Given the description of an element on the screen output the (x, y) to click on. 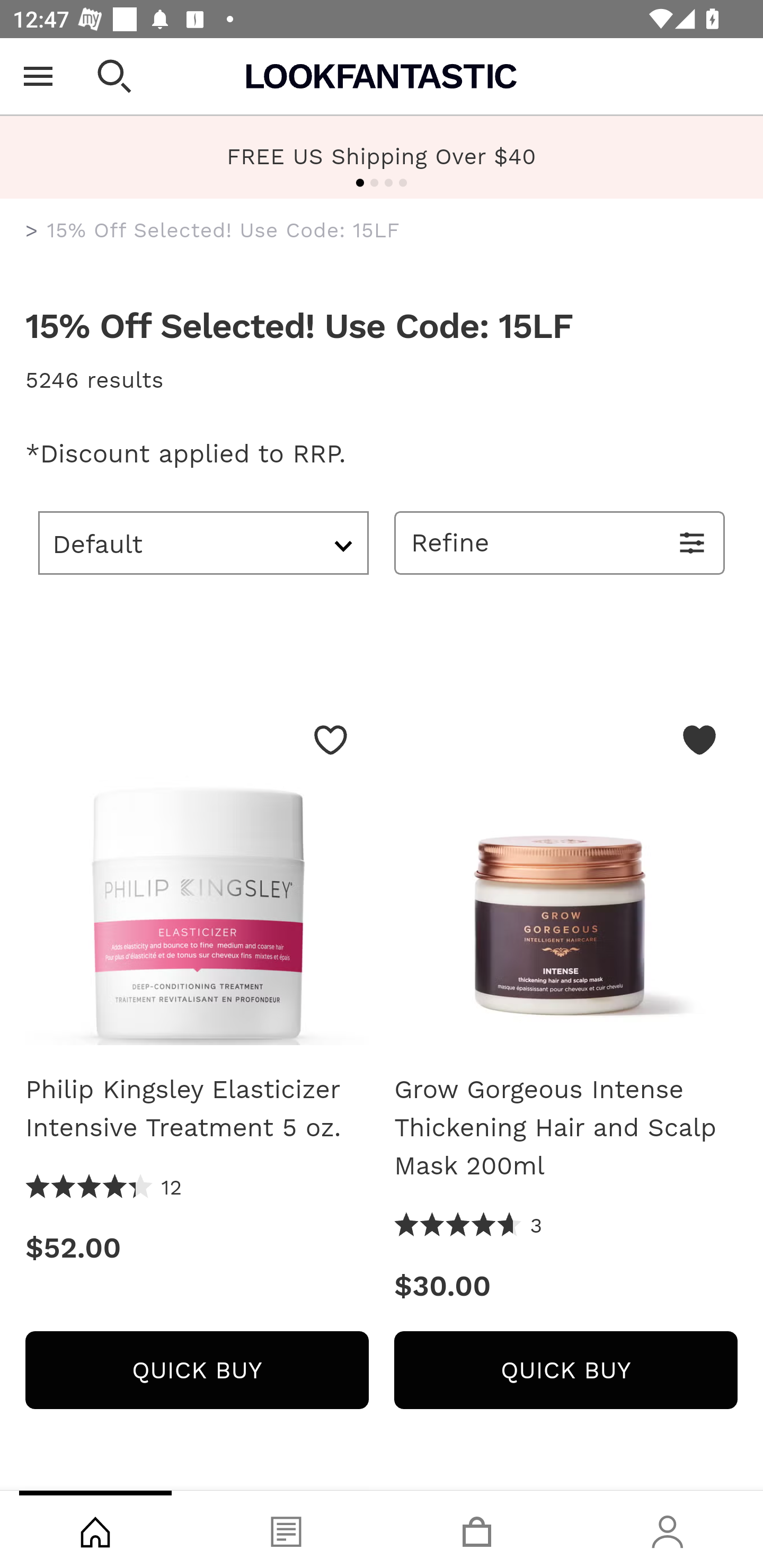
Open Menu (38, 75)
Open search (114, 75)
Lookfantastic USA (381, 75)
FREE US Shipping Over $40 (381, 157)
FREE US Shipping Over $40 (381, 155)
us.lookfantastic (32, 230)
Default (203, 542)
Refine (559, 542)
Save to Wishlist (330, 740)
Saved to Wishlist (698, 740)
4.33 Stars 12 Reviews (104, 1187)
4.67 Stars 3 Reviews (468, 1225)
Price: $52.00 (196, 1247)
Price: $30.00 (565, 1286)
Shop, tab, 1 of 4 (95, 1529)
Blog, tab, 2 of 4 (285, 1529)
Basket, tab, 3 of 4 (476, 1529)
Account, tab, 4 of 4 (667, 1529)
